Given the description of an element on the screen output the (x, y) to click on. 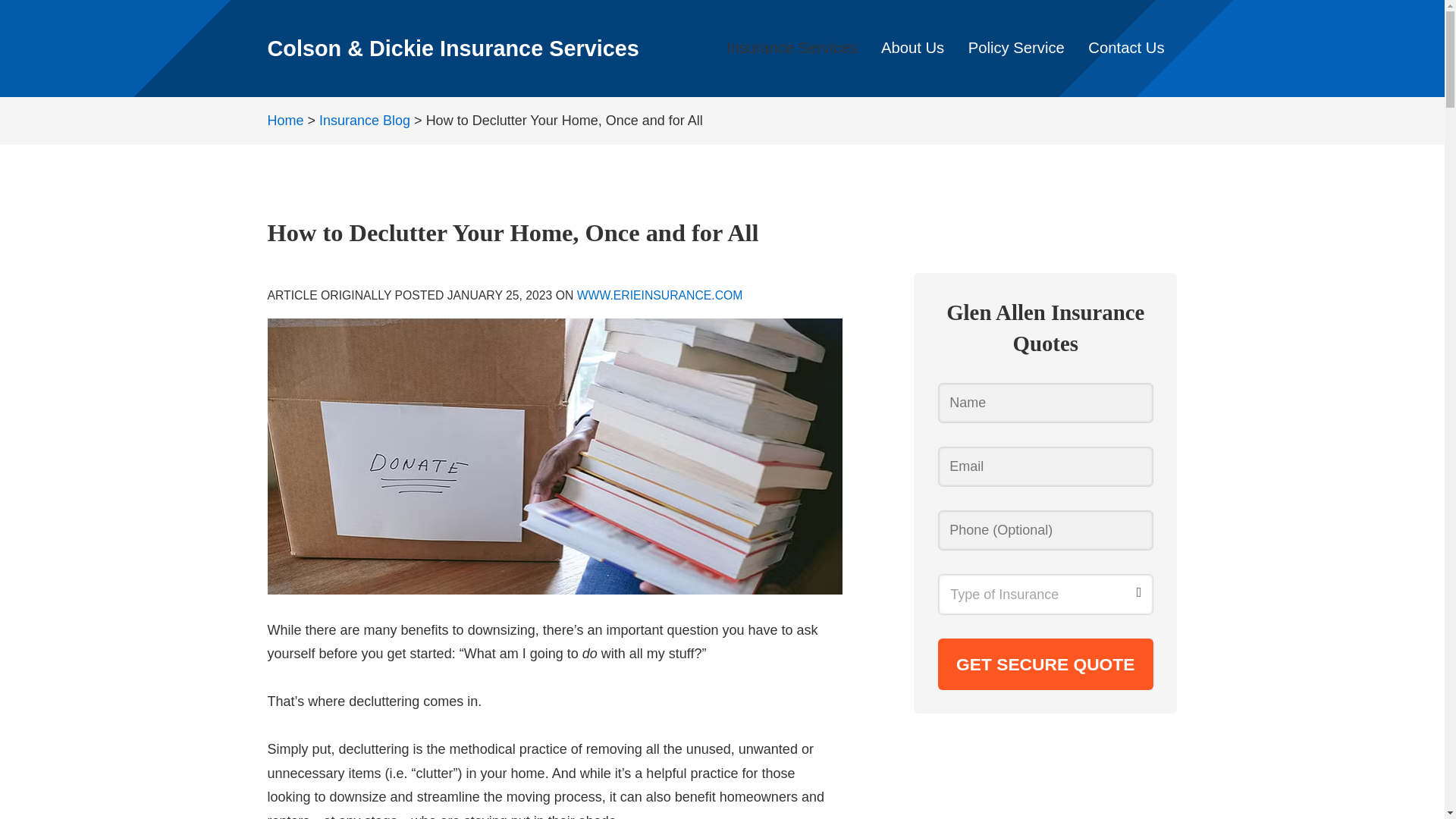
Contact Us (1126, 48)
Get Secure Quote (1045, 664)
Insurance Services (791, 48)
Policy Service (1016, 48)
About Us (912, 48)
